Given the description of an element on the screen output the (x, y) to click on. 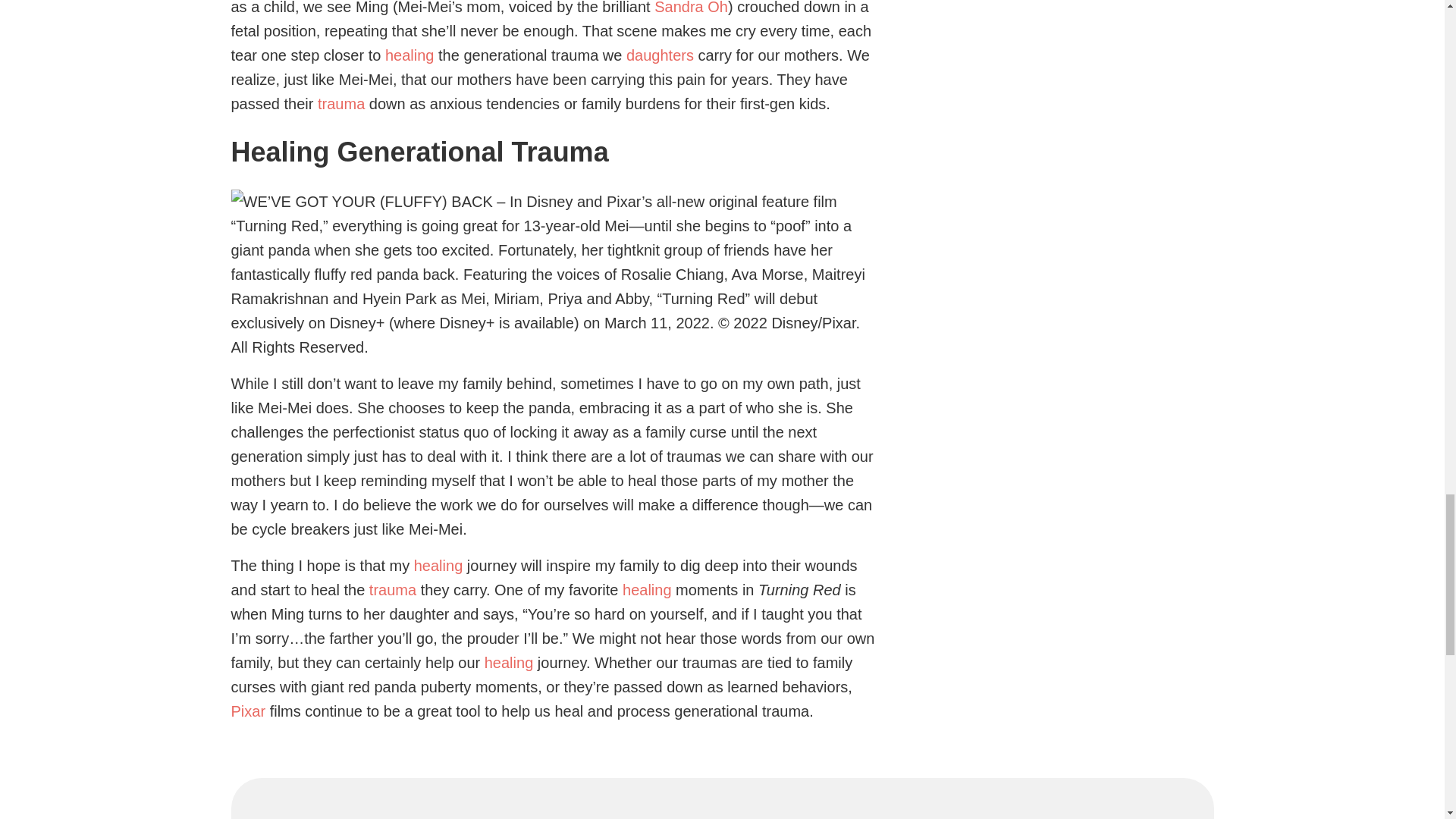
healing (647, 589)
trauma (392, 589)
healing (409, 54)
Pixar (247, 710)
healing (438, 565)
trauma (341, 103)
daughters (660, 54)
healing (509, 662)
Sandra Oh (690, 7)
